Given the description of an element on the screen output the (x, y) to click on. 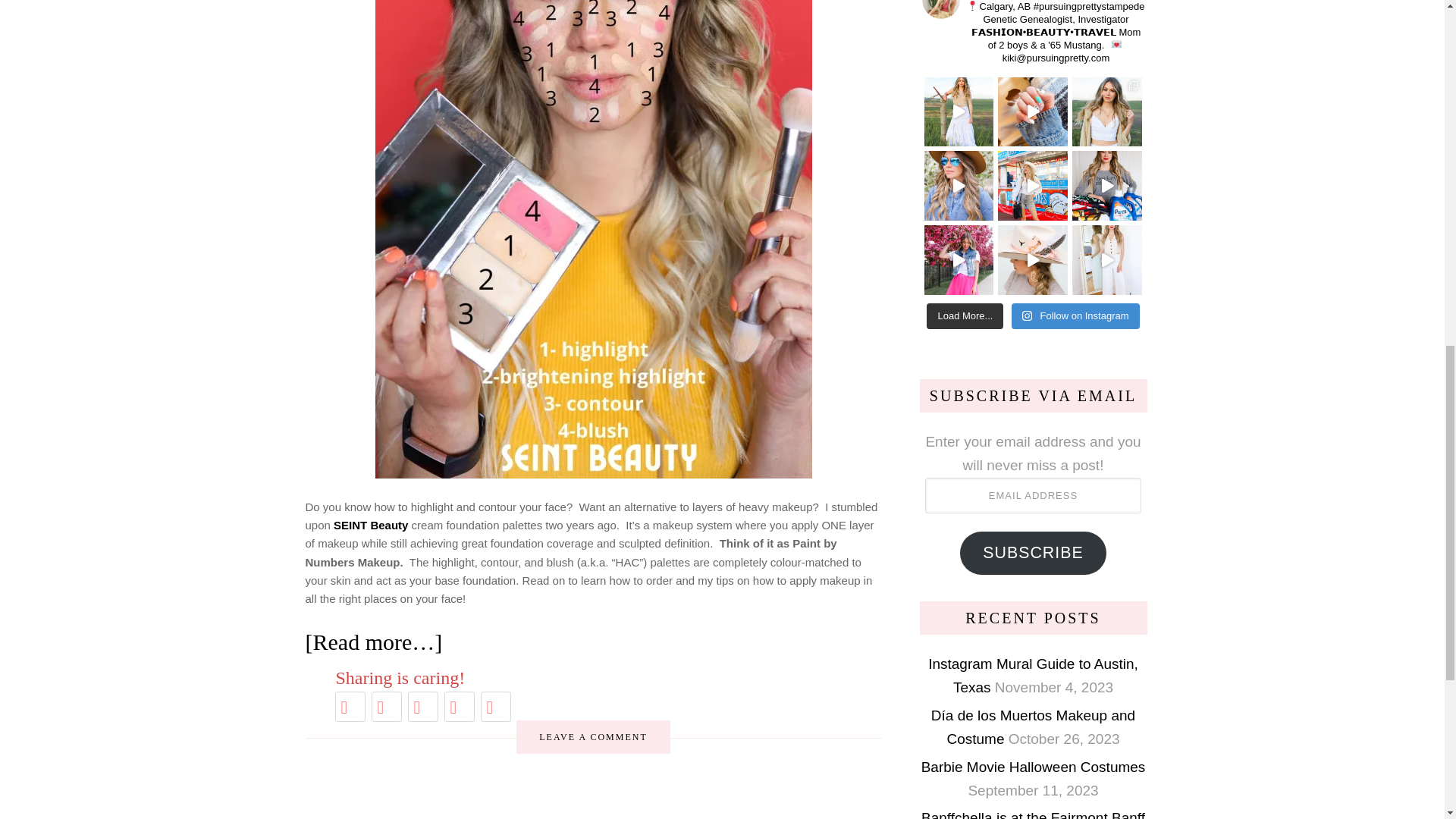
SEINT Beauty (370, 524)
Facebook (386, 706)
Barbie Movie Halloween Costumes (1033, 766)
Instagram Mural Guide to Austin, Texas (1033, 675)
SUBSCRIBE (1032, 553)
Load More... (964, 316)
Email This (459, 706)
More Options (495, 706)
Follow on Instagram (1075, 316)
Banffchella is at the Fairmont Banff Springs Pool! (1032, 814)
